Given the description of an element on the screen output the (x, y) to click on. 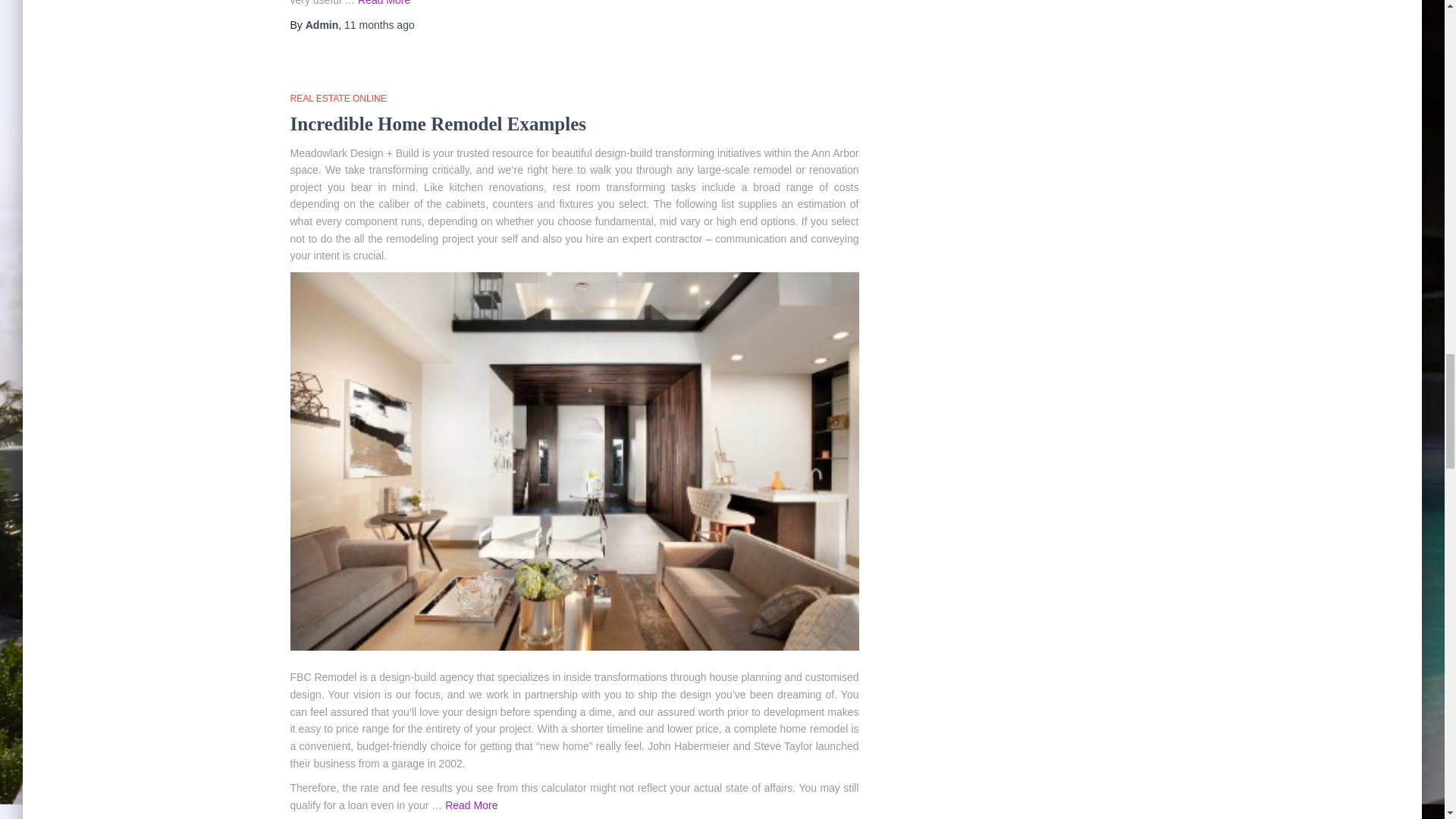
Admin (322, 24)
Incredible Home Remodel Examples (437, 123)
Incredible Home Remodel Examples (437, 123)
Read More (384, 2)
Read More (471, 805)
REAL ESTATE ONLINE (337, 98)
11 months ago (378, 24)
View all posts in Real Estate Online (337, 98)
Admin (322, 24)
